Given the description of an element on the screen output the (x, y) to click on. 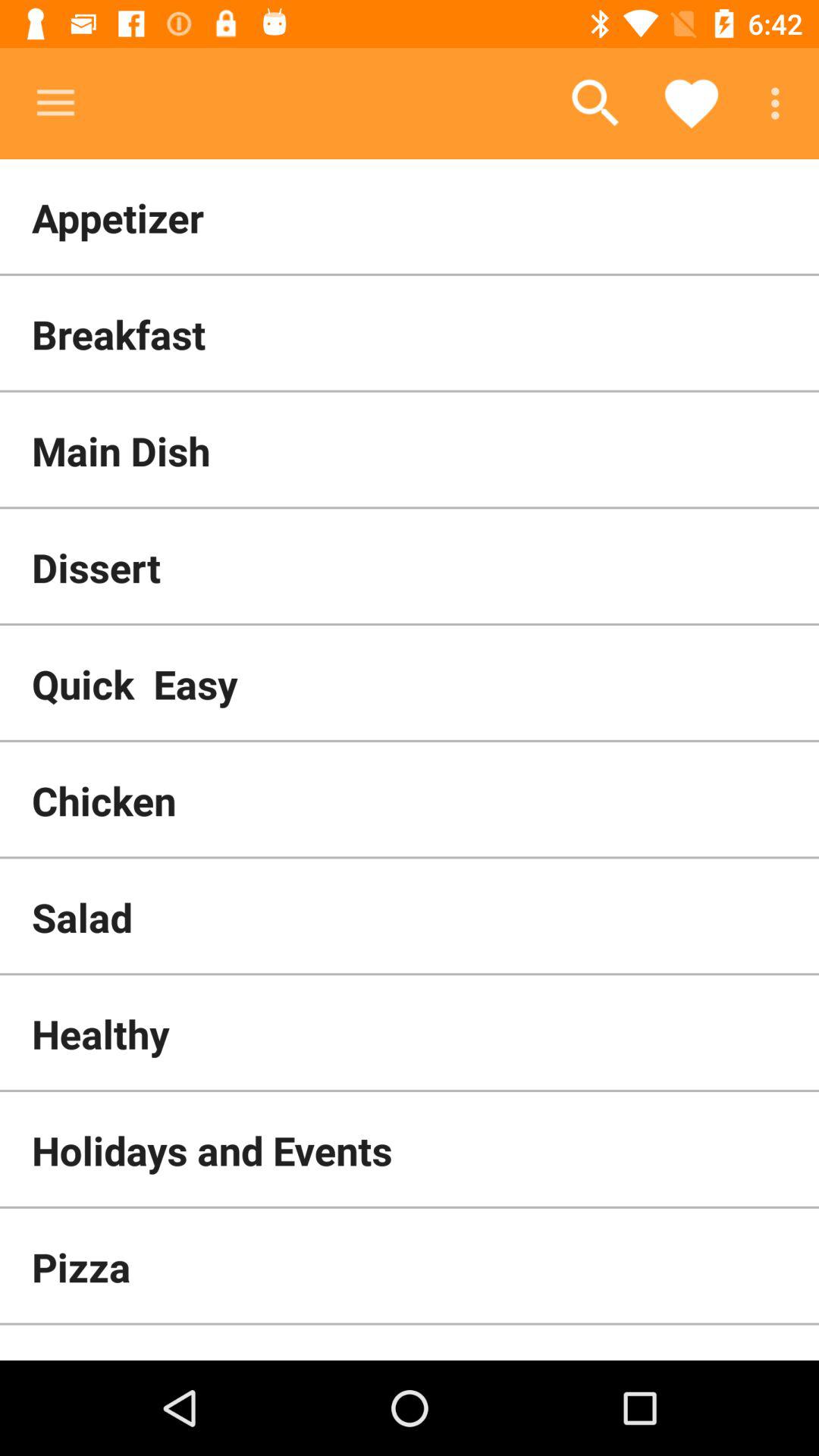
select more option on a page (779, 103)
